Given the description of an element on the screen output the (x, y) to click on. 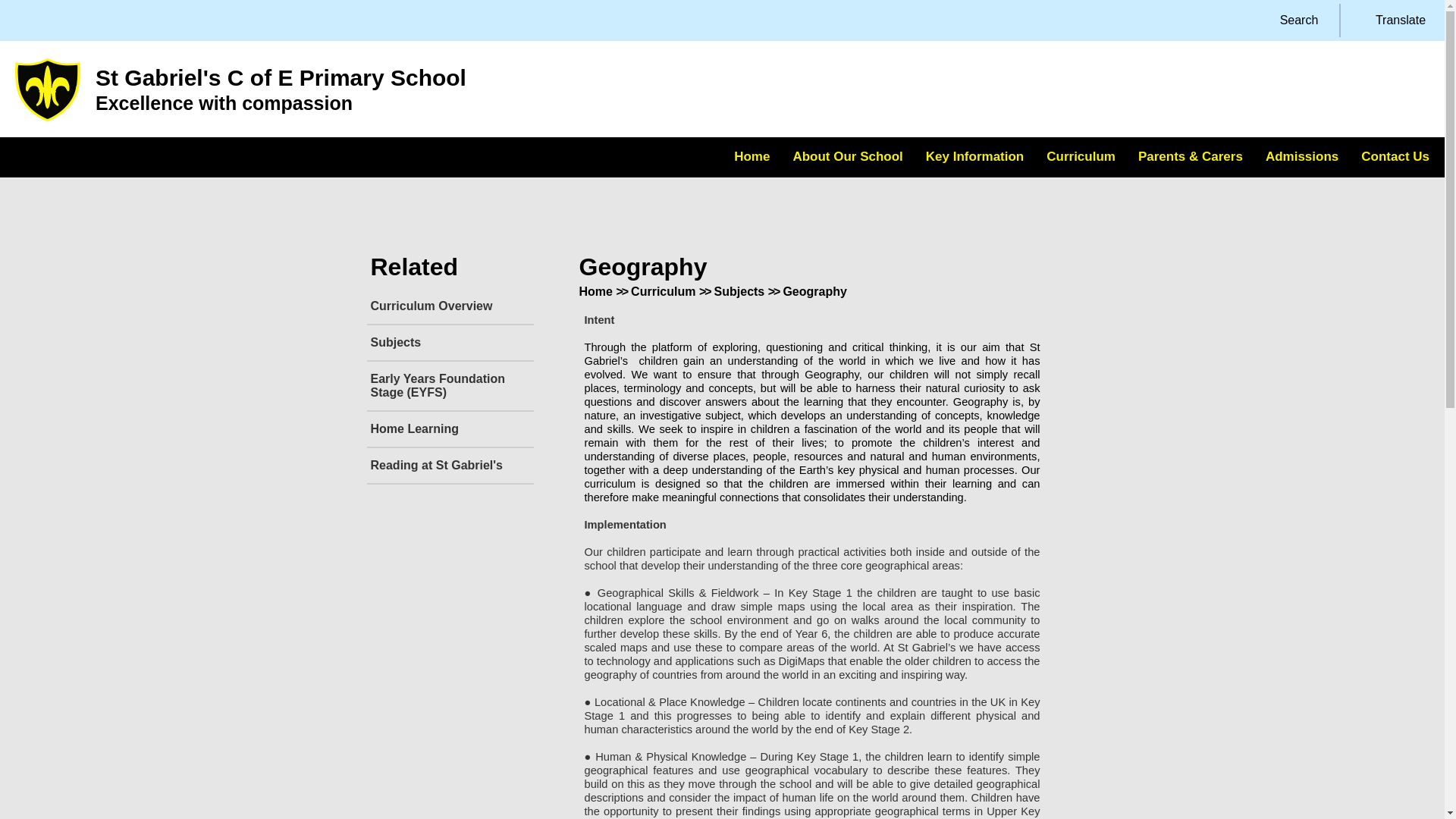
Translate (1390, 20)
Home Page (47, 89)
Curriculum (1080, 157)
Search (1289, 20)
Key Information (974, 157)
About Our School (847, 157)
